Given the description of an element on the screen output the (x, y) to click on. 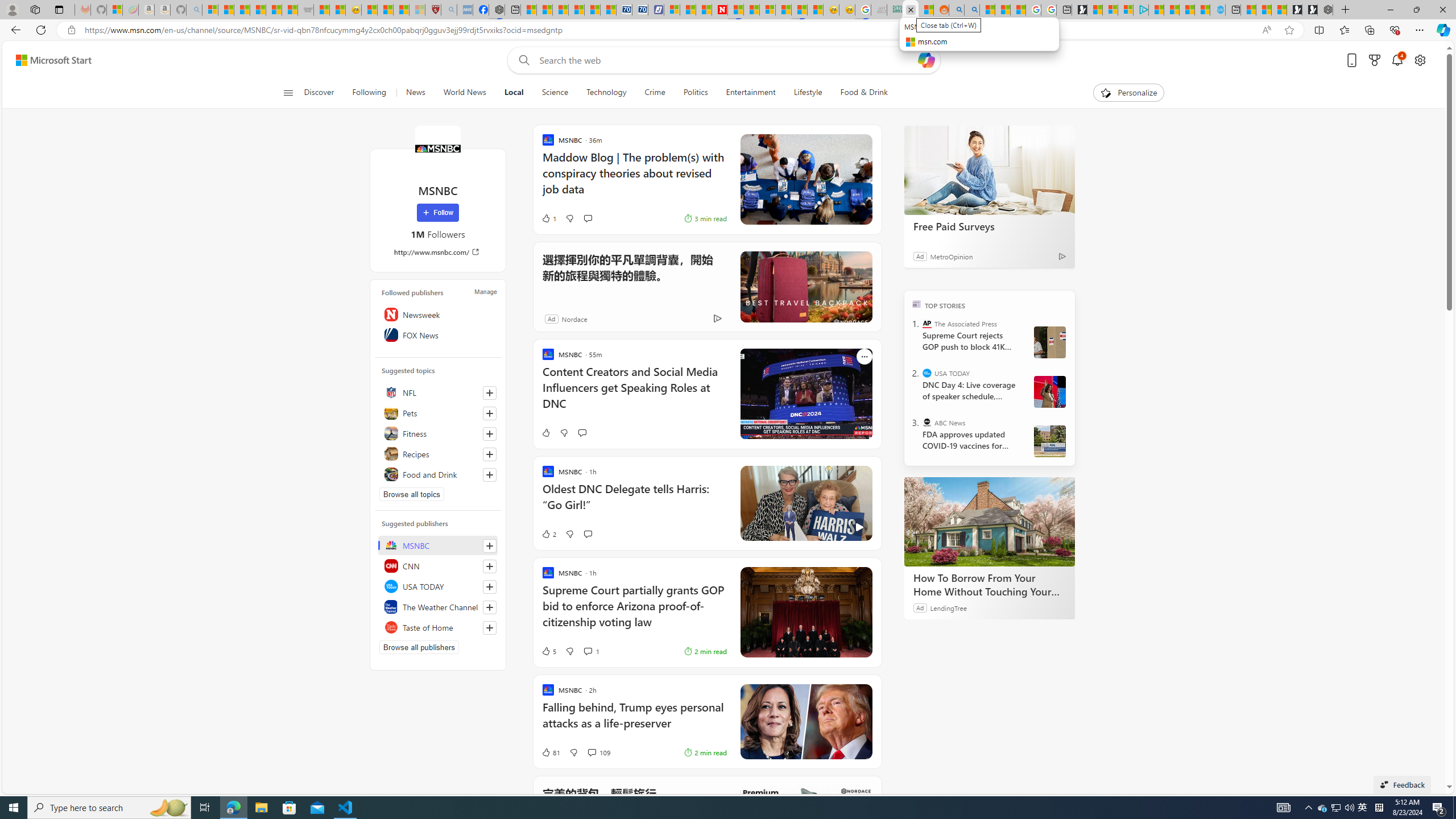
Combat Siege (305, 9)
Newsweek - News, Analysis, Politics, Business, Technology (719, 9)
Class: button-glyph (287, 92)
Pets (437, 412)
